Given the description of an element on the screen output the (x, y) to click on. 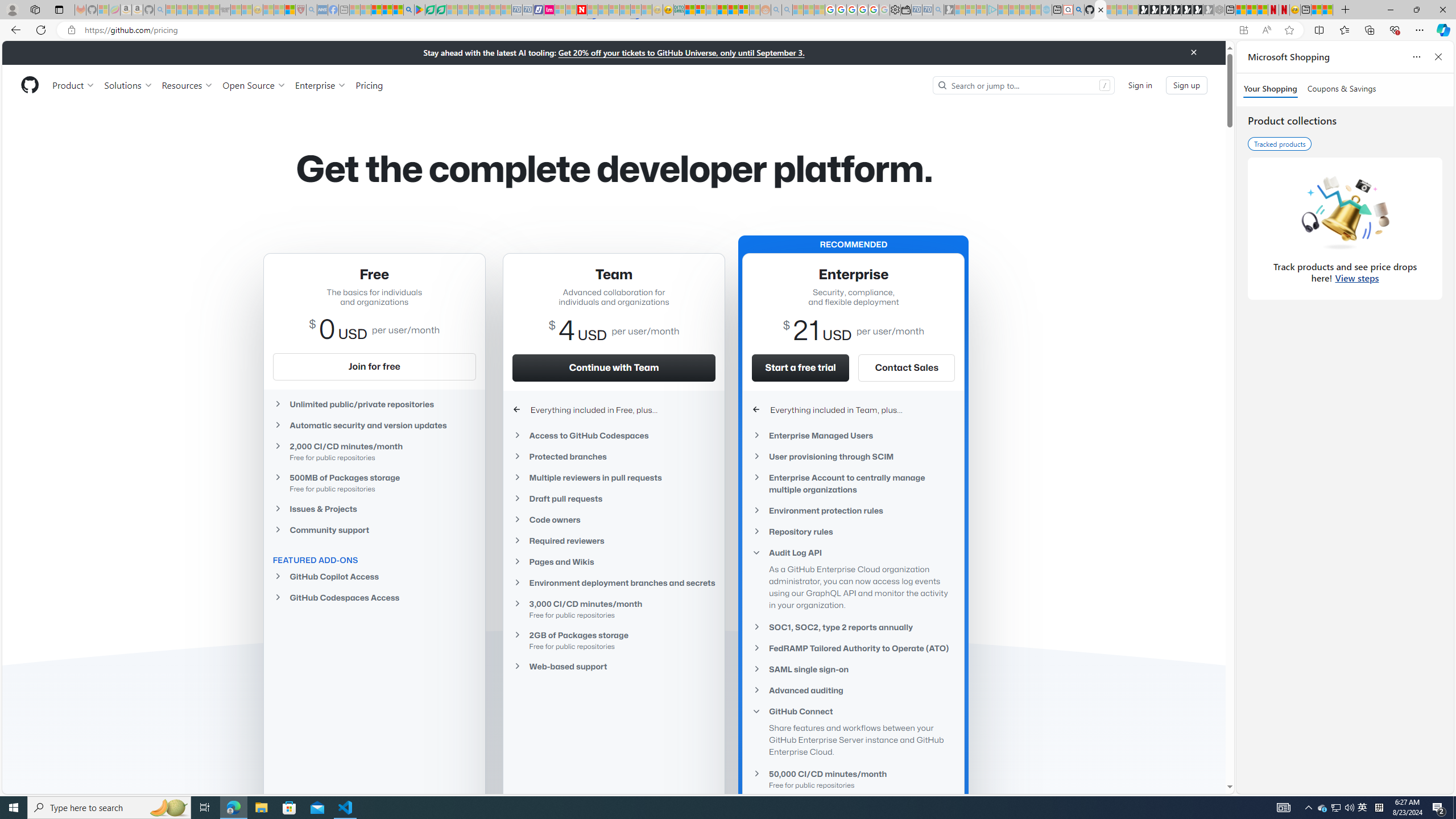
Multiple reviewers in pull requests (614, 477)
2,000 CI/CD minutes/month Free for public repositories (374, 451)
Kinda Frugal - MSN (733, 9)
Enterprise (319, 84)
Enterprise (319, 84)
